Given the description of an element on the screen output the (x, y) to click on. 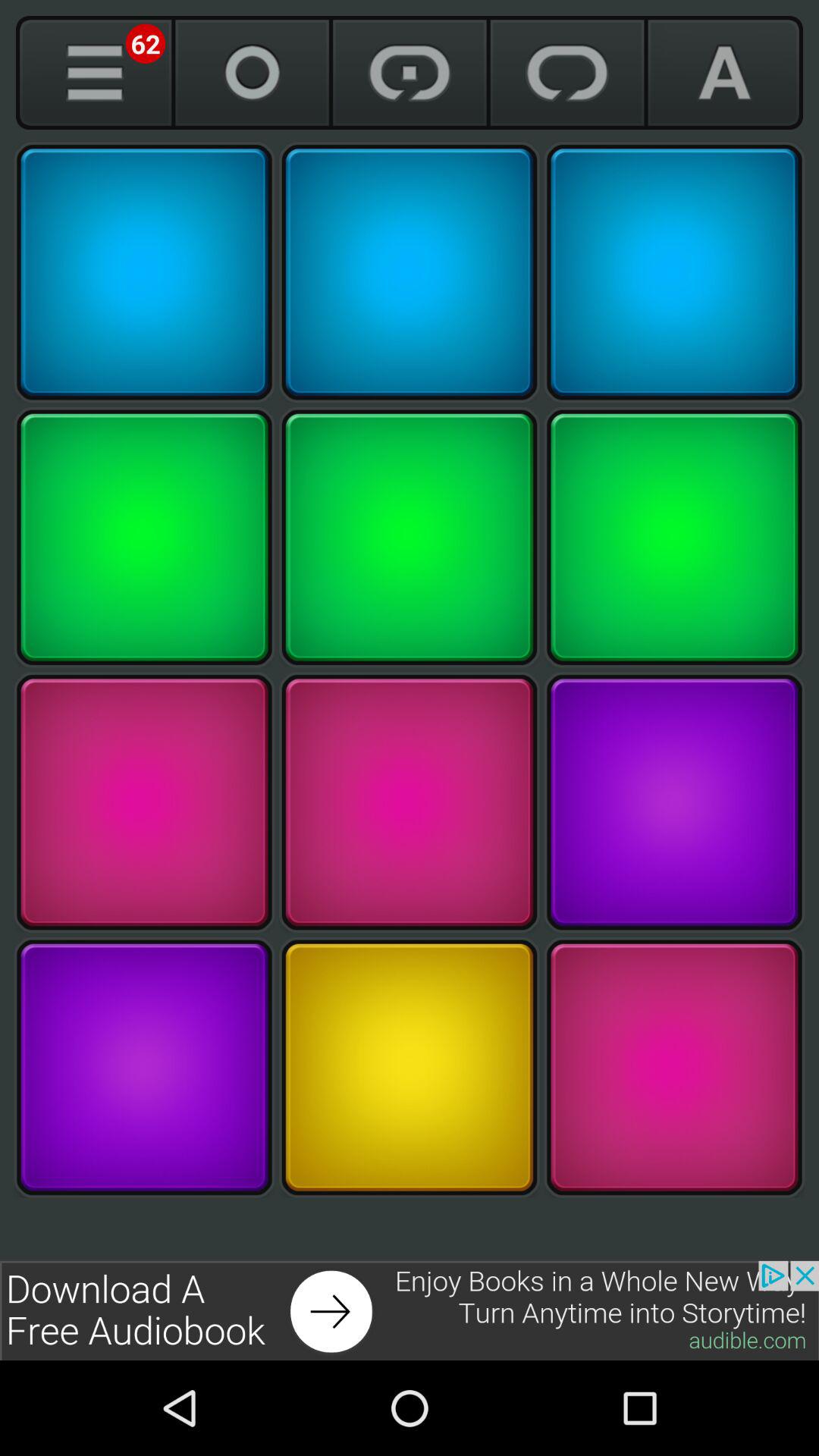
click the grid (674, 272)
